Given the description of an element on the screen output the (x, y) to click on. 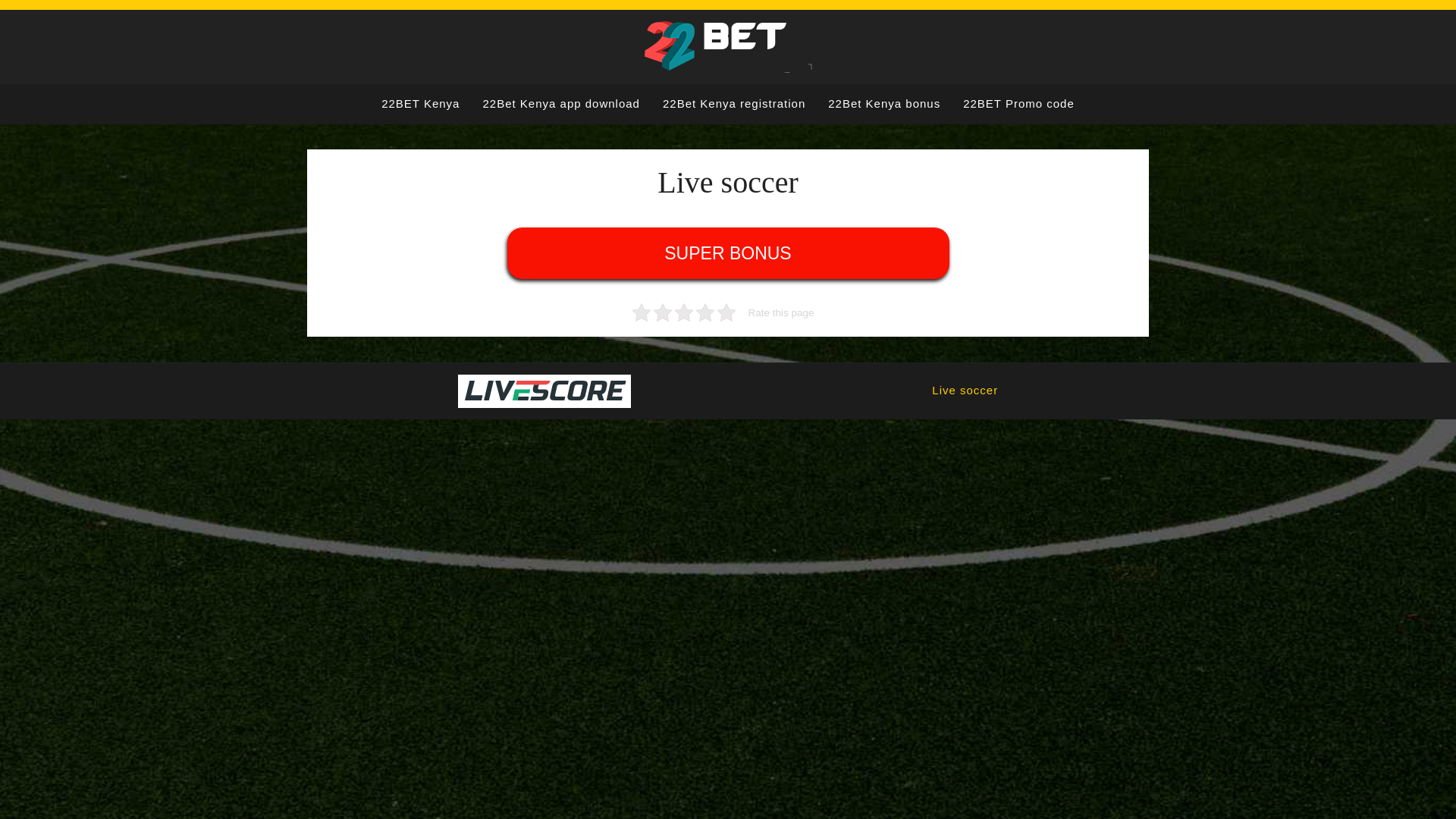
22Bet Kenya bonus Element type: text (884, 103)
SUPER BONUS Element type: text (727, 253)
22Bet Kenya app download Element type: text (560, 103)
Live soccer Element type: text (964, 390)
22BET Kenya Element type: text (420, 103)
22Bet Kenya registration Element type: text (733, 103)
22BET Promo code Element type: text (1018, 103)
